Given the description of an element on the screen output the (x, y) to click on. 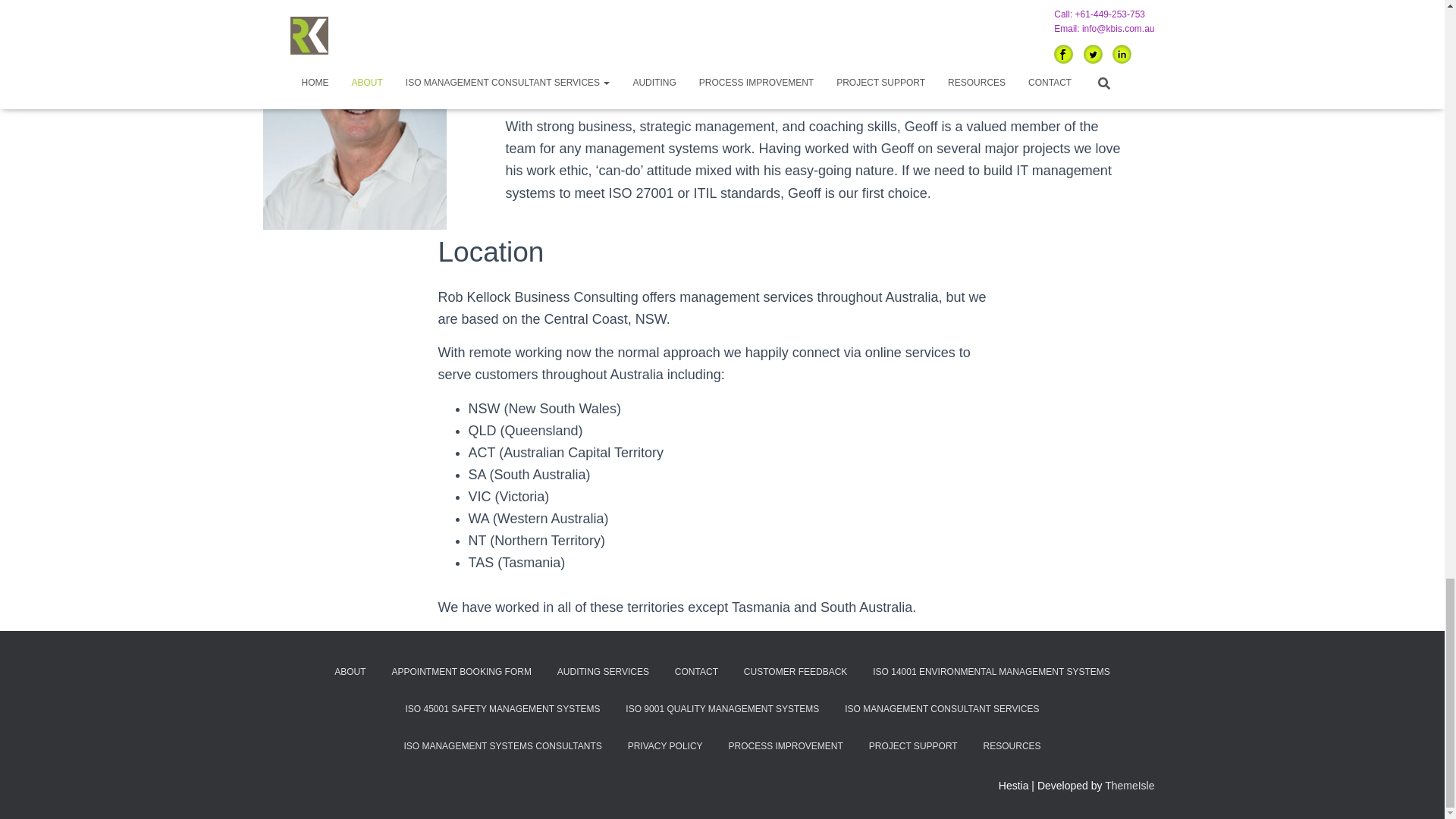
PRIVACY POLICY (664, 746)
ABOUT (350, 671)
ISO MANAGEMENT SYSTEMS CONSULTANTS (501, 746)
APPOINTMENT BOOKING FORM (460, 671)
ISO 45001 SAFETY MANAGEMENT SYSTEMS (502, 709)
PROCESS IMPROVEMENT (785, 746)
AUDITING SERVICES (603, 671)
ISO MANAGEMENT CONSULTANT SERVICES (940, 709)
CUSTOMER FEEDBACK (795, 671)
ISO 14001 ENVIRONMENTAL MANAGEMENT SYSTEMS (991, 671)
ISO 9001 QUALITY MANAGEMENT SYSTEMS (721, 709)
PROJECT SUPPORT (913, 746)
RESOURCES (1012, 746)
CONTACT (696, 671)
